Given the description of an element on the screen output the (x, y) to click on. 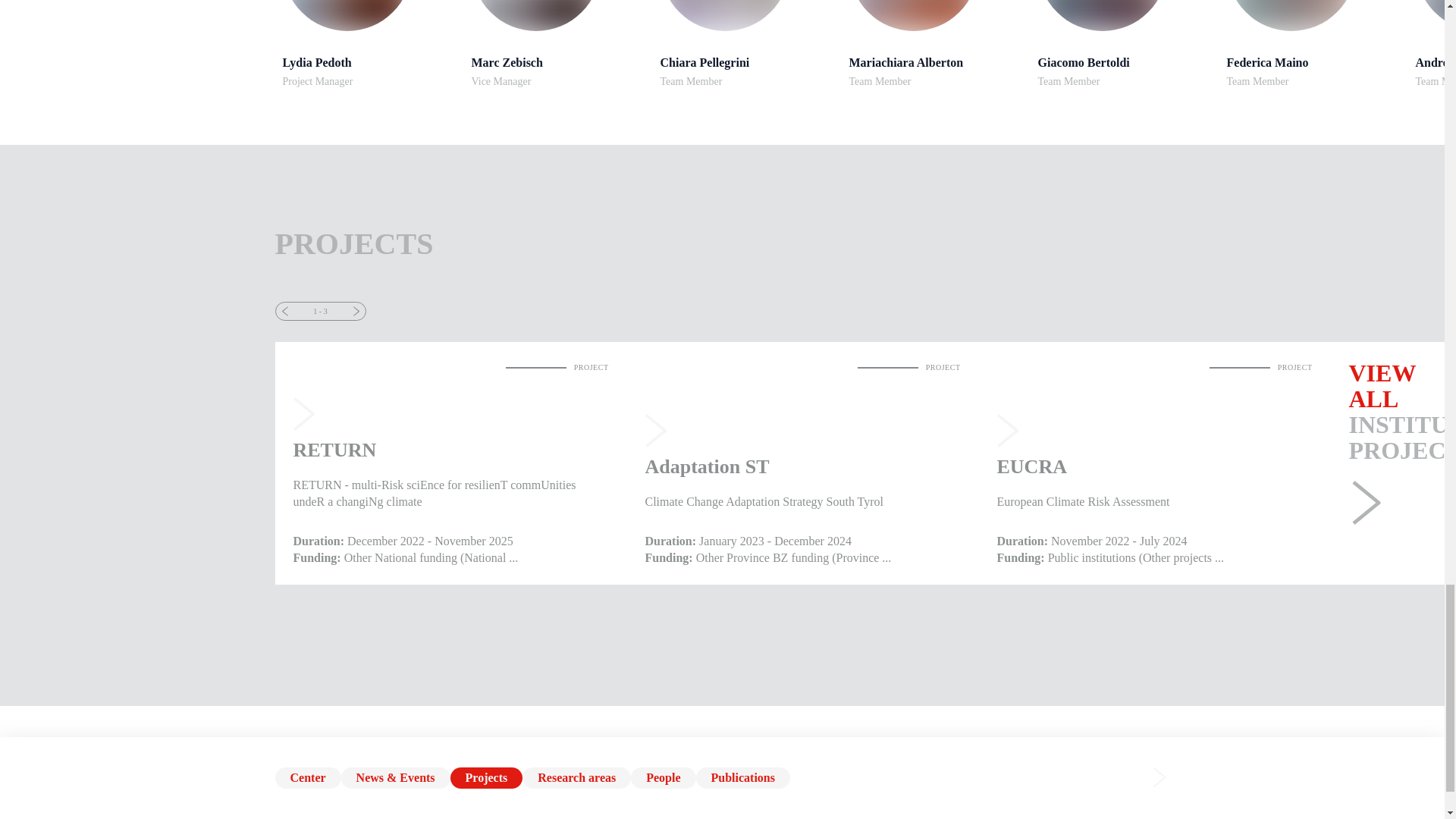
Chiara Pellegrini (1123, 43)
Mariachiara Alberton (724, 15)
Federica Maino (368, 43)
Federica Maino (935, 43)
Mariachiara Alberton (1291, 15)
Lydia Pedoth (1313, 43)
Lydia Pedoth (913, 15)
Marc Zebisch (558, 43)
Giacomo Bertoldi (368, 43)
Marc Zebisch (346, 15)
